Given the description of an element on the screen output the (x, y) to click on. 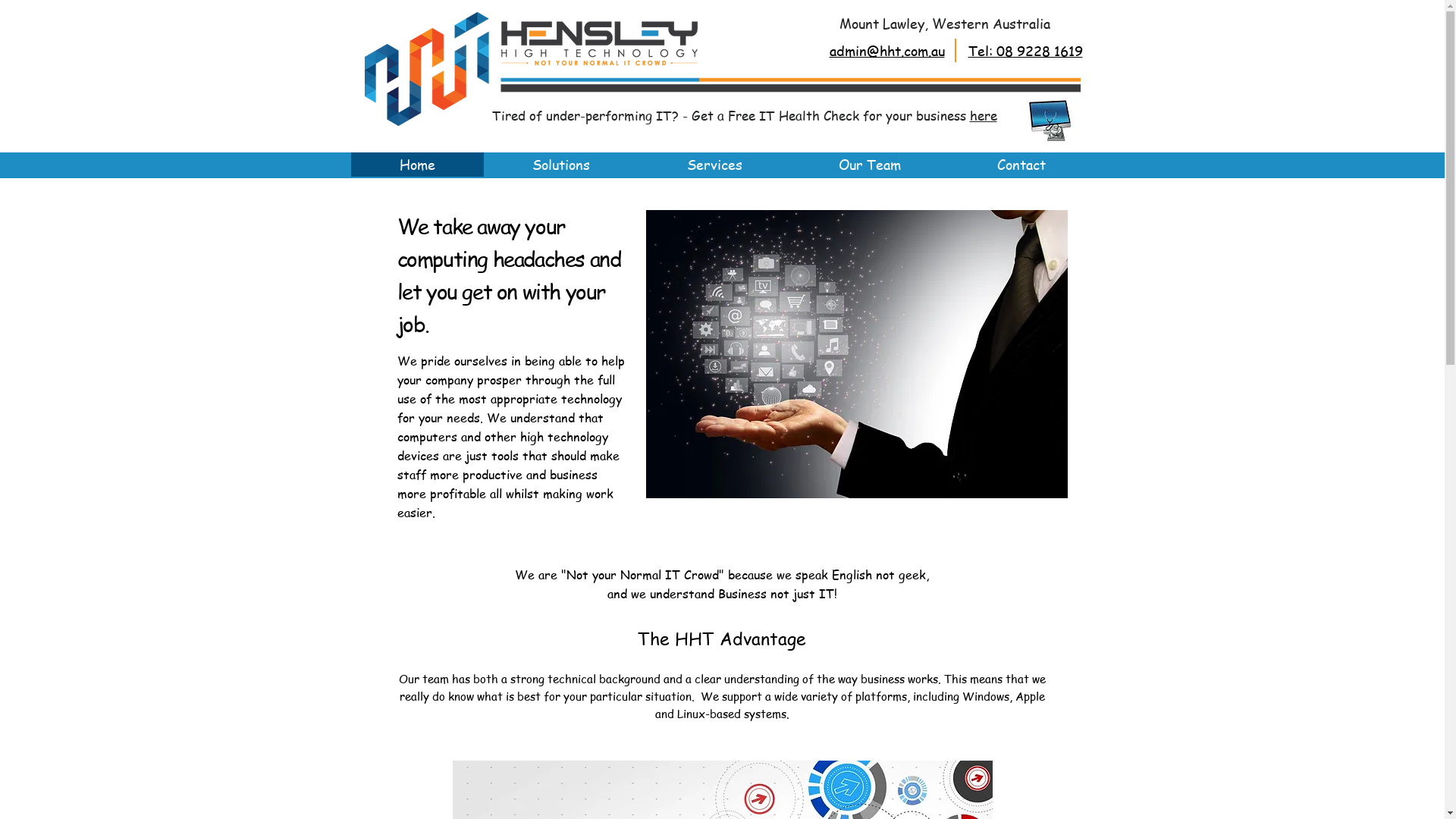
Services Element type: text (714, 164)
admin@hht.com.au Element type: text (886, 49)
Our Team Element type: text (869, 164)
Tel: 08 9228 1619 Element type: text (1024, 49)
Contact Element type: text (1021, 164)
here Element type: text (982, 115)
Home Element type: text (416, 164)
Solutions Element type: text (560, 164)
